Given the description of an element on the screen output the (x, y) to click on. 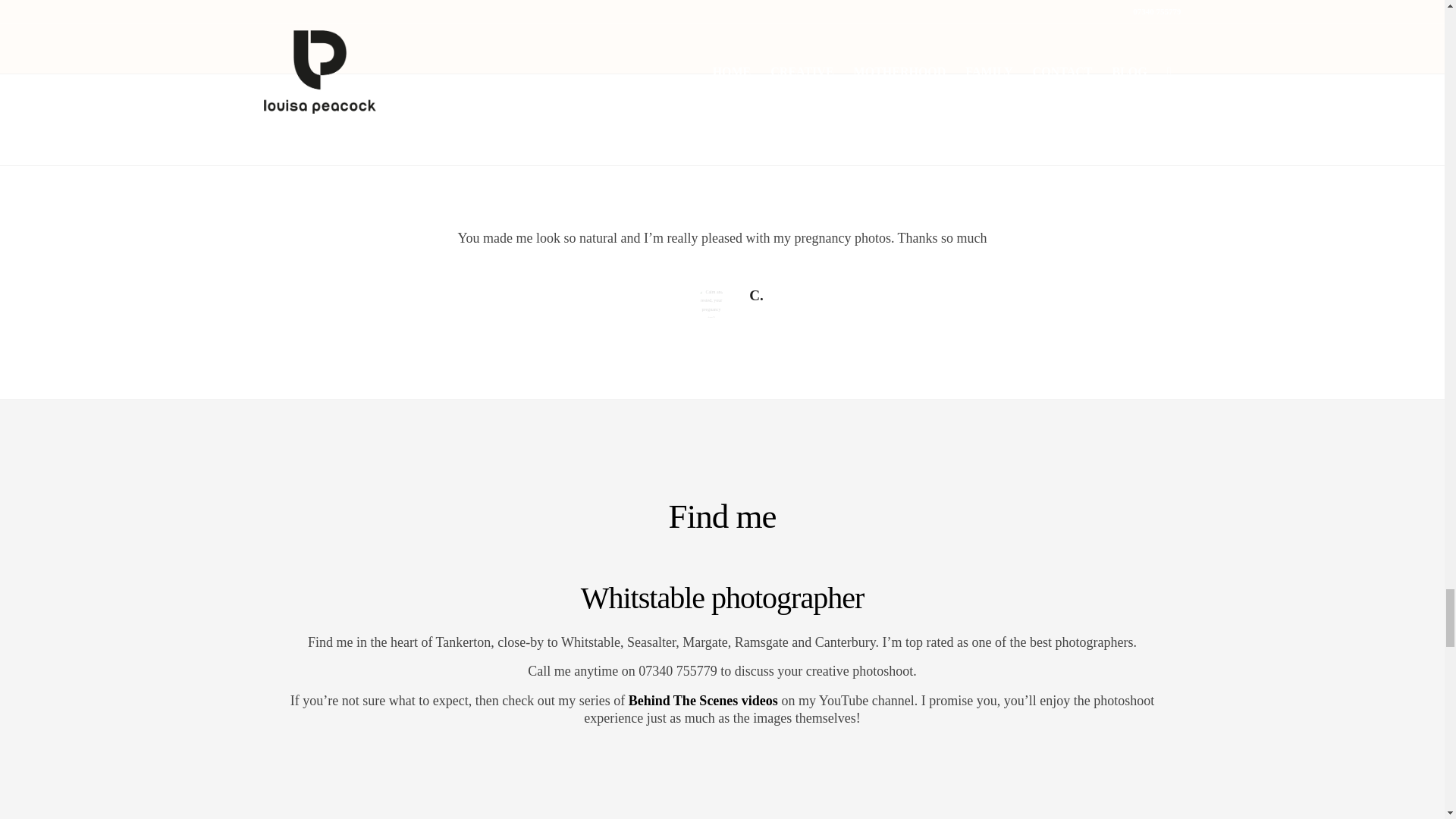
Behind The Scenes videos (702, 700)
